Given the description of an element on the screen output the (x, y) to click on. 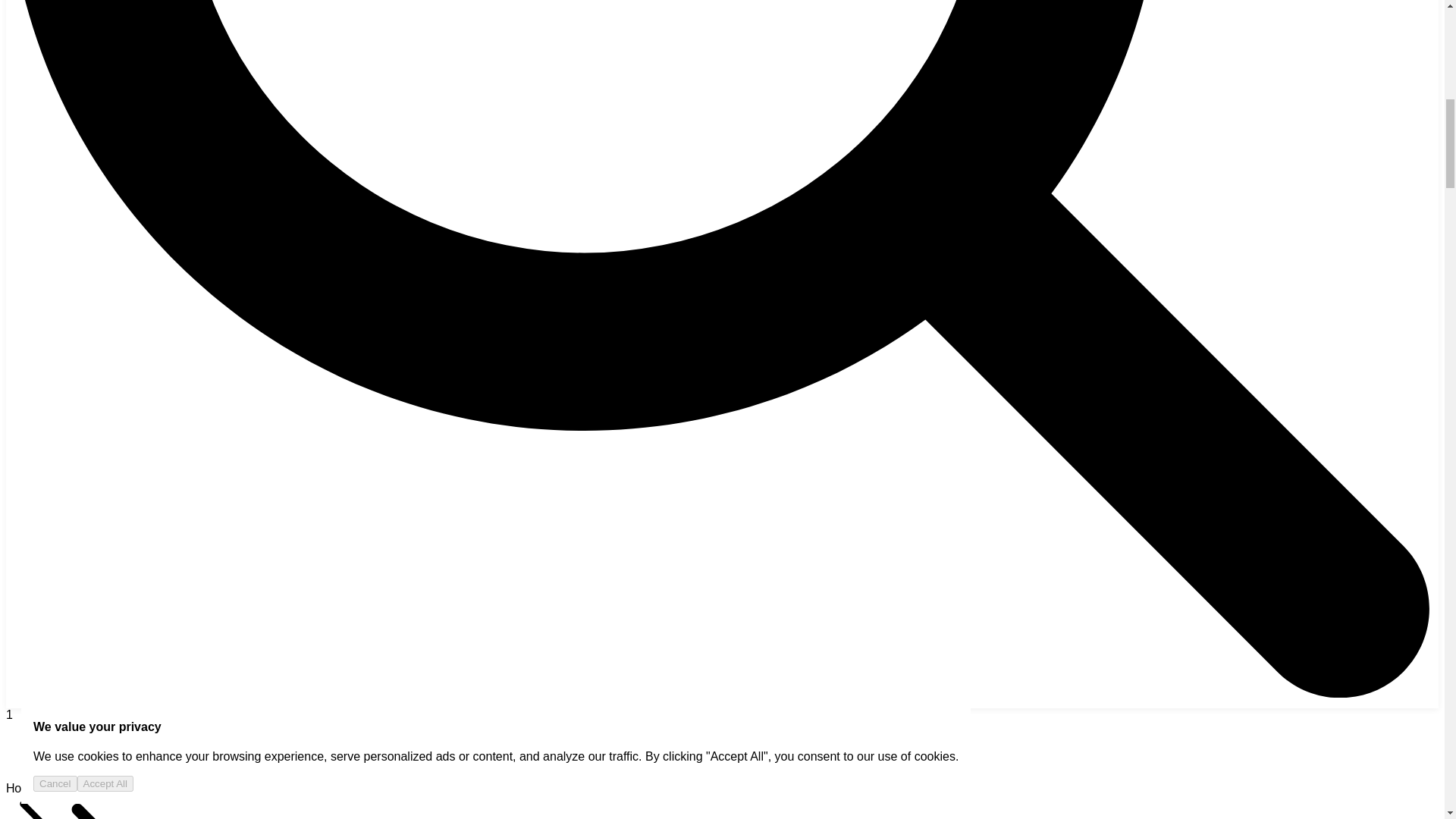
Netflix (143, 788)
Companies (82, 788)
Home (21, 788)
